Given the description of an element on the screen output the (x, y) to click on. 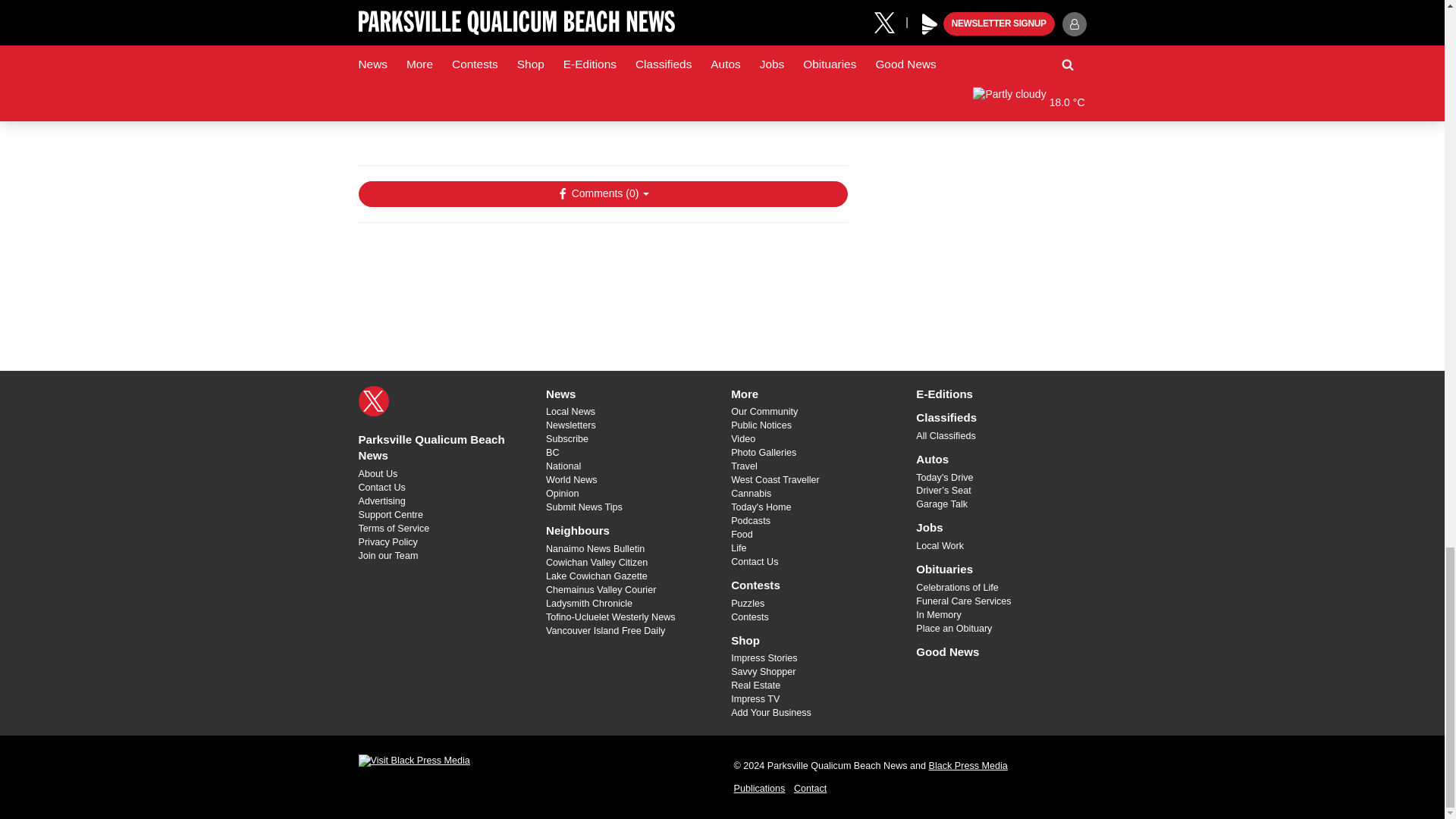
Show Comments (602, 193)
X (373, 400)
